Given the description of an element on the screen output the (x, y) to click on. 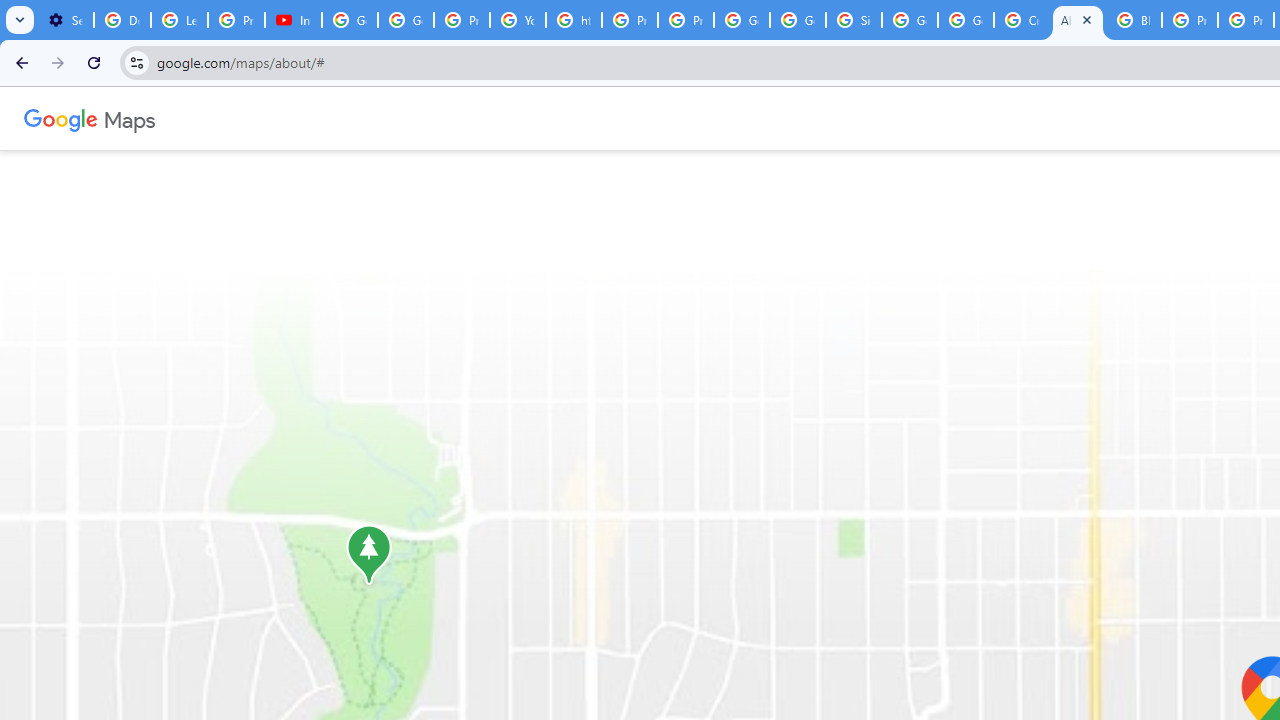
Privacy Help Center - Policies Help (1190, 20)
Privacy Help Center - Policies Help (629, 20)
YouTube (518, 20)
